Given the description of an element on the screen output the (x, y) to click on. 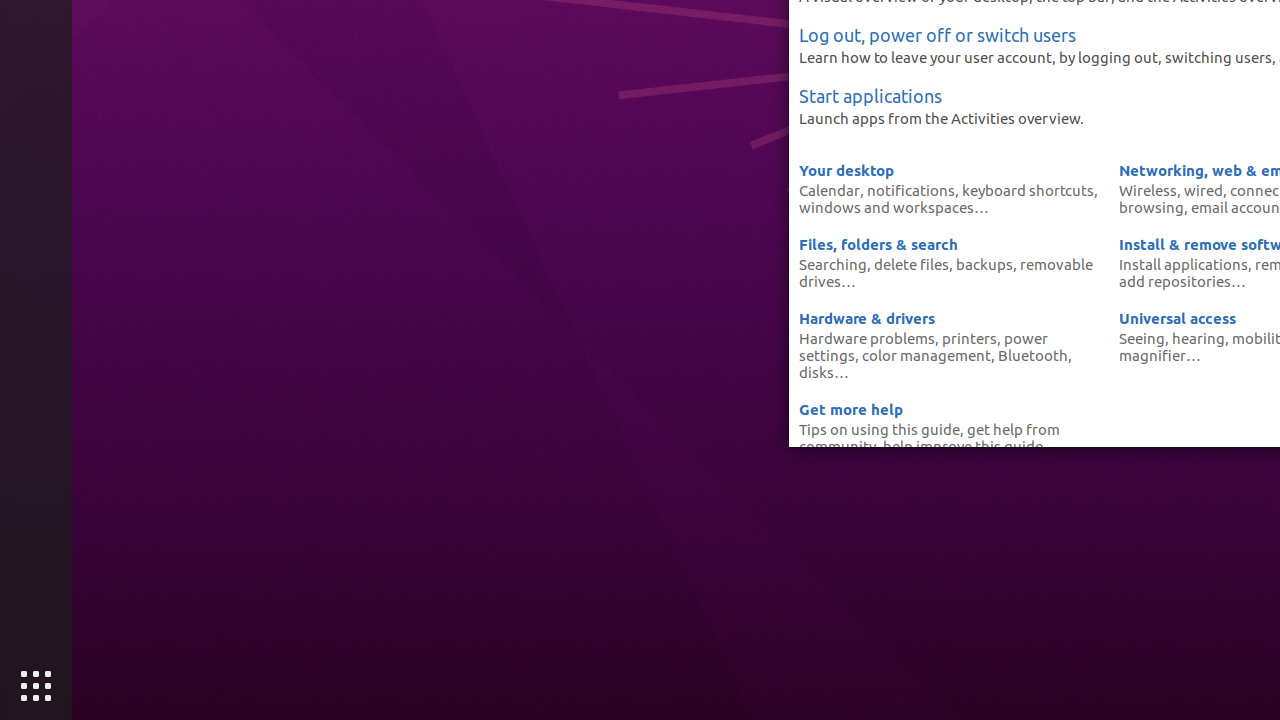
get help from community Element type: link (929, 437)
add repositories Element type: link (1175, 281)
keyboard shortcuts Element type: link (1028, 190)
notifications Element type: link (911, 190)
